Given the description of an element on the screen output the (x, y) to click on. 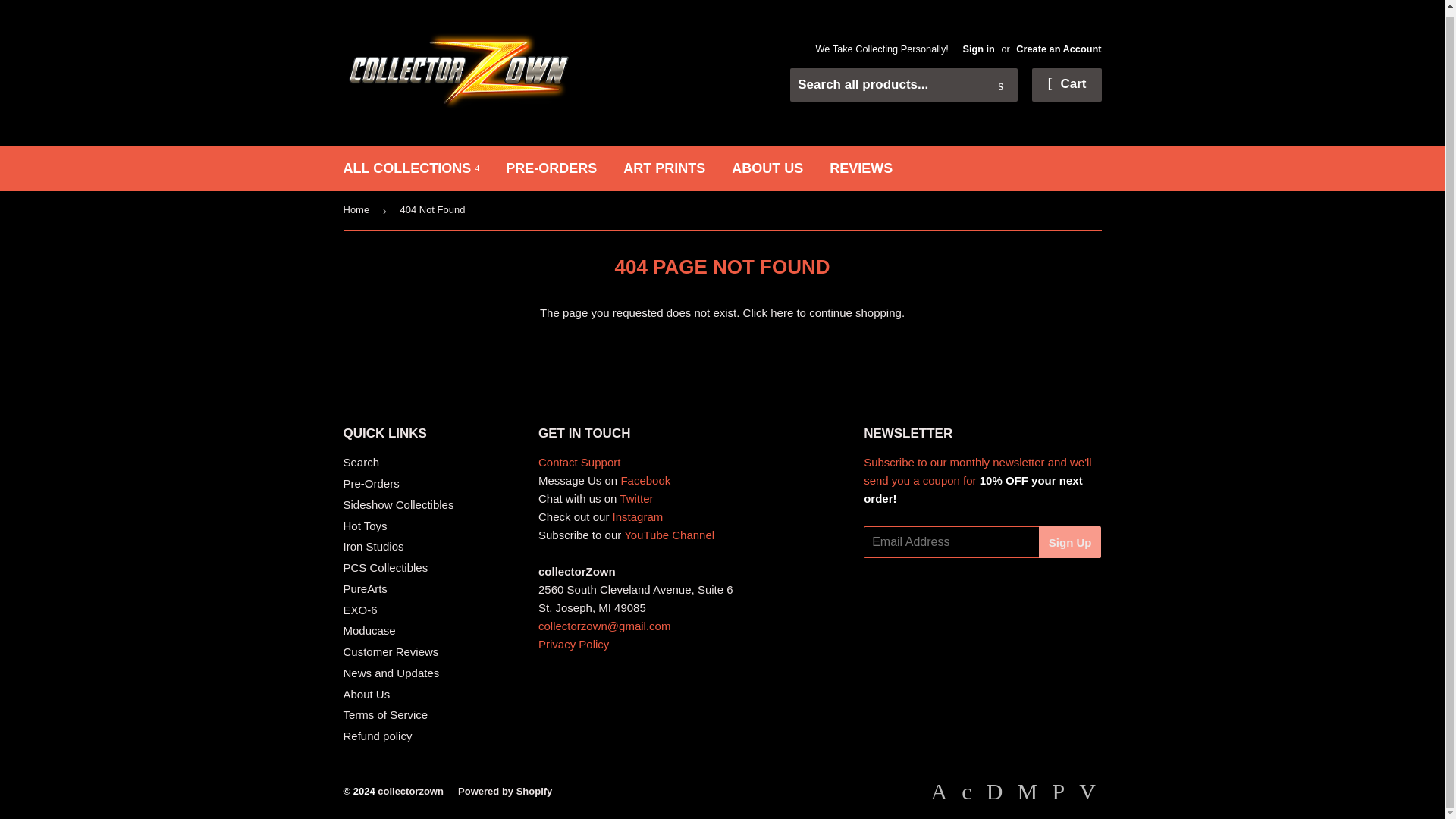
Sideshow Collectibles (397, 504)
PureArts (364, 588)
Sign in (978, 48)
REVIEWS (861, 168)
ABOUT US (766, 168)
Search (360, 461)
Pre-Orders (370, 482)
ALL COLLECTIONS (411, 168)
Cart (1066, 84)
here (781, 312)
PCS Collectibles (385, 567)
PRE-ORDERS (551, 168)
ART PRINTS (663, 168)
Hot Toys (364, 525)
Iron Studios (372, 545)
